Given the description of an element on the screen output the (x, y) to click on. 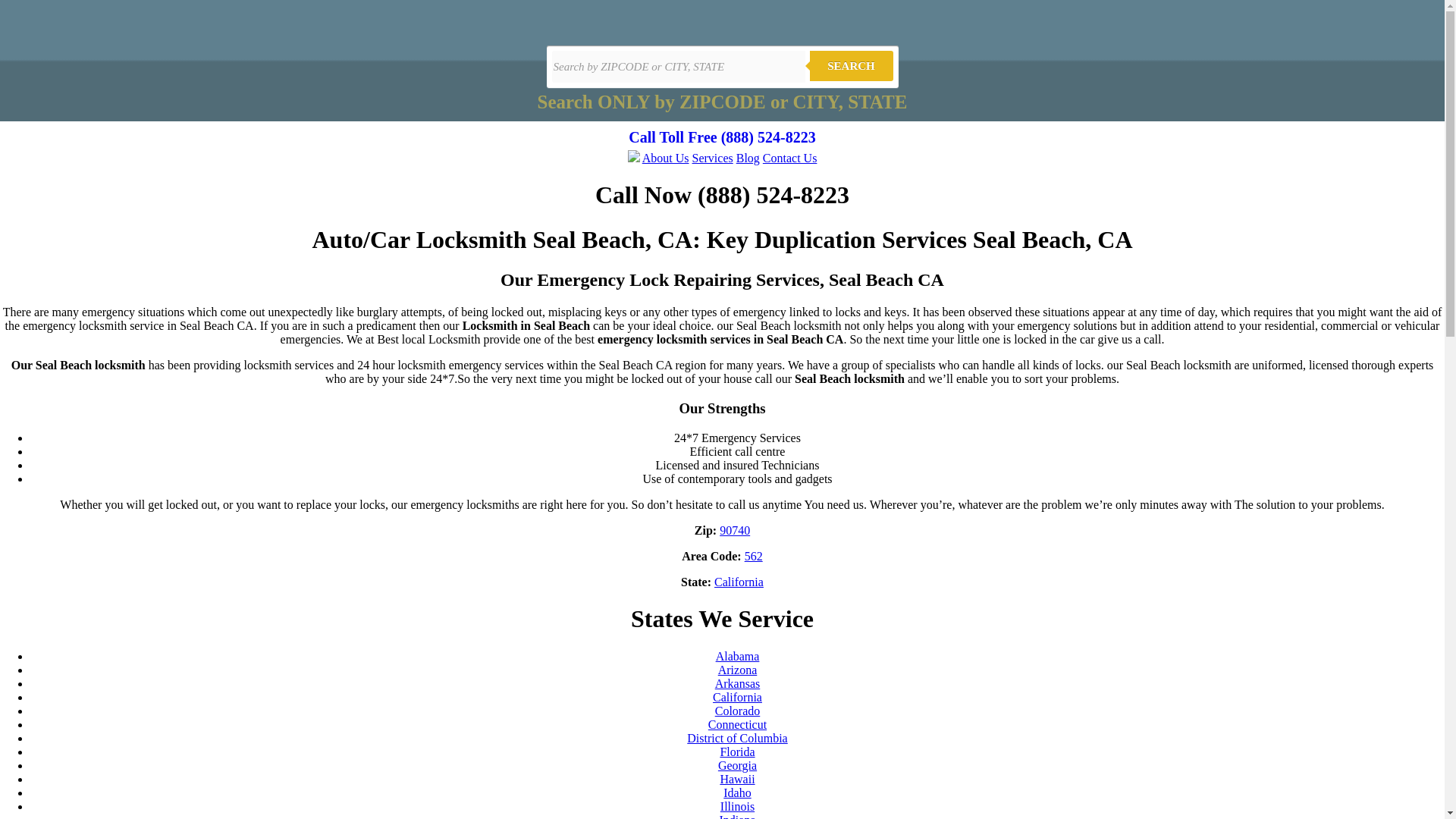
Blog (748, 157)
Illinois (737, 806)
Arkansas (737, 683)
Arizona (737, 669)
Contact Us (789, 157)
California (738, 581)
SEARCH (851, 65)
California (737, 697)
Hawaii (736, 779)
Colorado (737, 710)
